Given the description of an element on the screen output the (x, y) to click on. 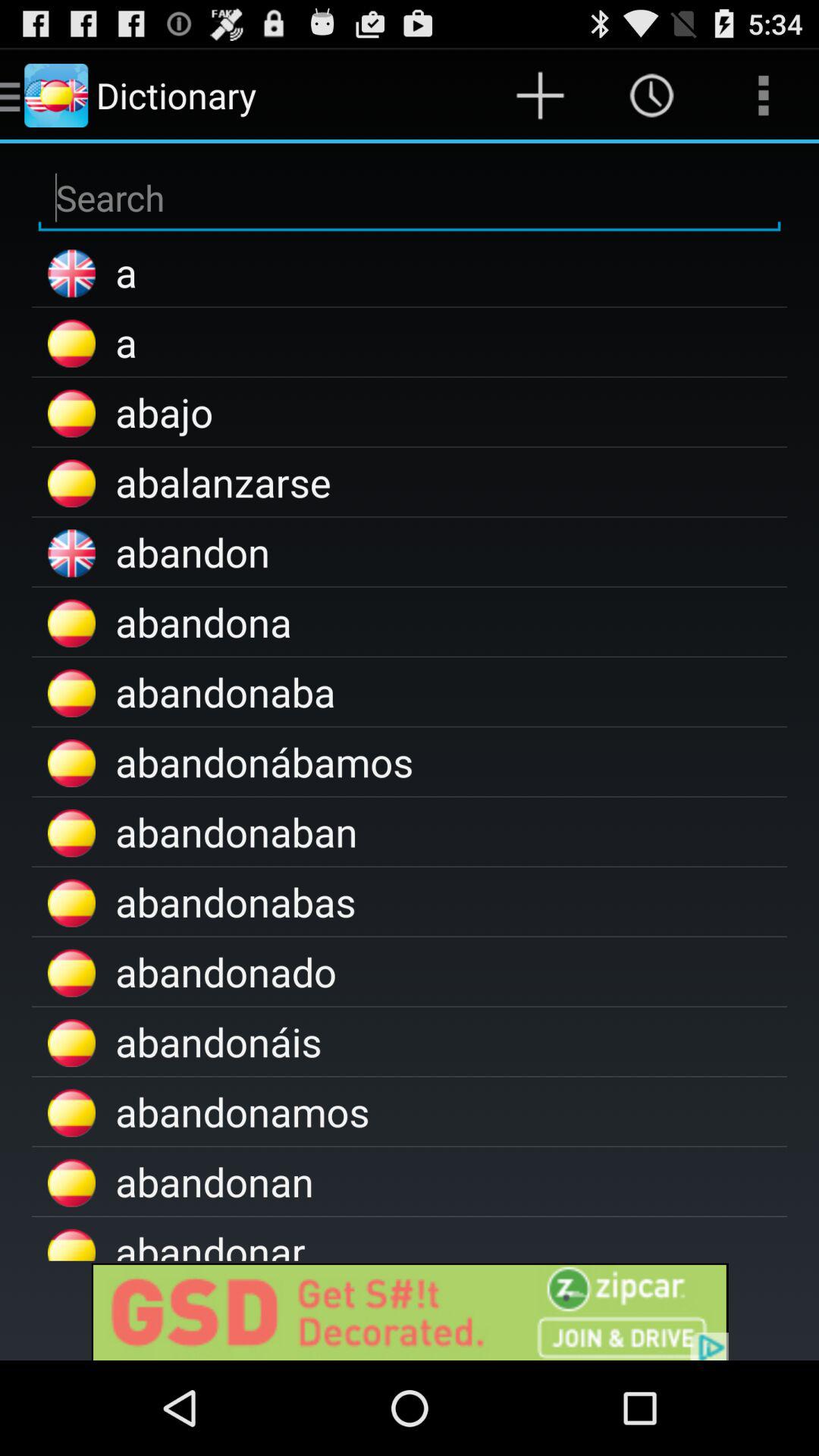
advertisement banner (409, 1310)
